Given the description of an element on the screen output the (x, y) to click on. 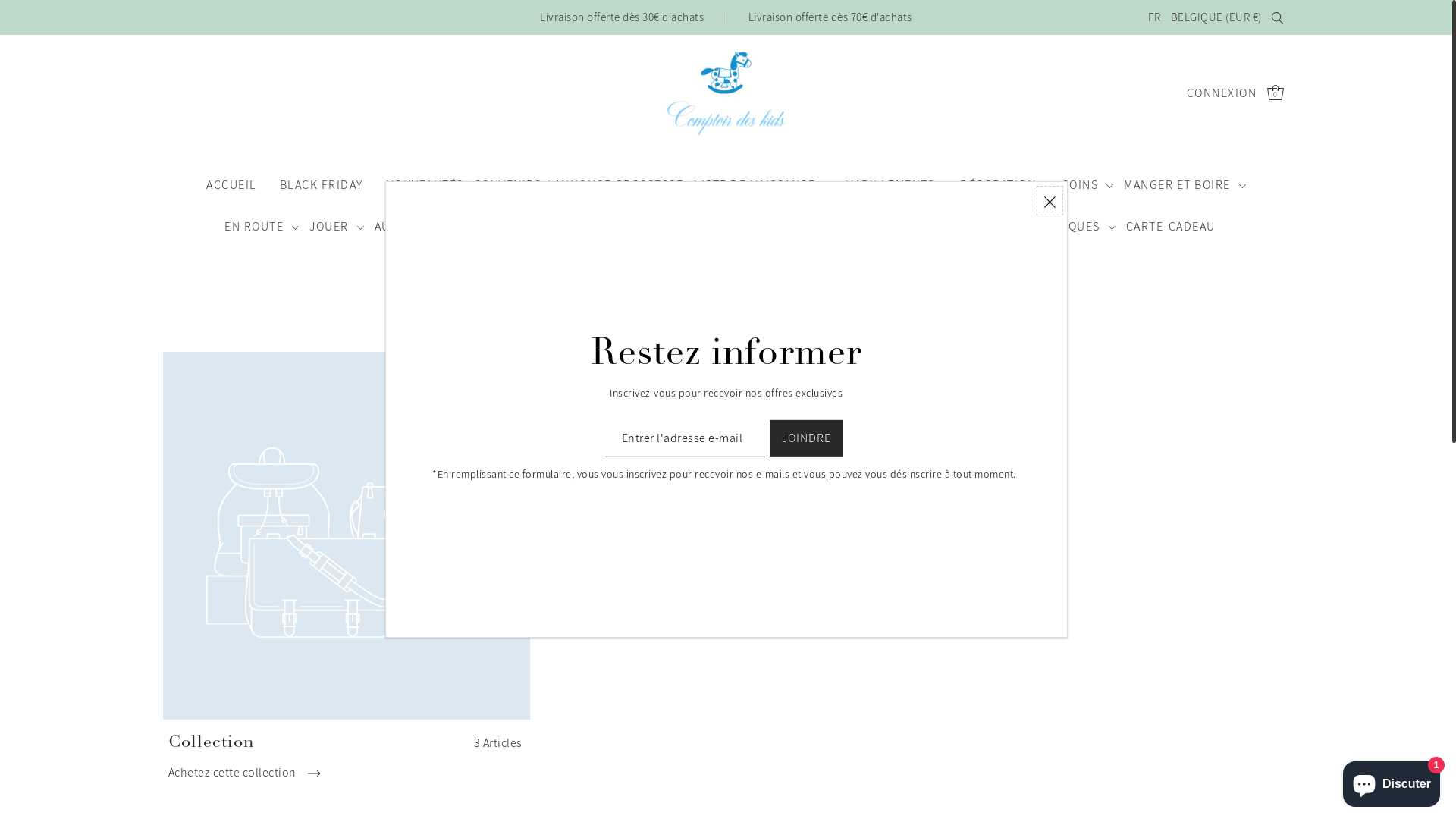
Joindre Element type: text (806, 438)
ACCUEIL Element type: text (231, 184)
NOS MARQUES Element type: text (1065, 226)
Achetez cette collection Element type: text (244, 775)
HABILLEMENTS Element type: text (897, 184)
0 Element type: text (1275, 93)
CONTACTEZ-NOUS Element type: text (725, 268)
AU LIT Element type: text (401, 226)
MOBILIER Element type: text (557, 226)
EN ROUTE Element type: text (261, 226)
Chat de la boutique en ligne Shopify Element type: hover (1391, 780)
FR Element type: text (1154, 17)
JOUER Element type: text (336, 226)
MANGER ET BOIRE Element type: text (1184, 184)
SOINS Element type: text (1087, 184)
SOUVENIRS / ANNONCE GROSSESSE Element type: text (578, 184)
POUR MAMAN / PAPA Element type: text (671, 226)
CONNEXION Element type: text (1221, 92)
